Given the description of an element on the screen output the (x, y) to click on. 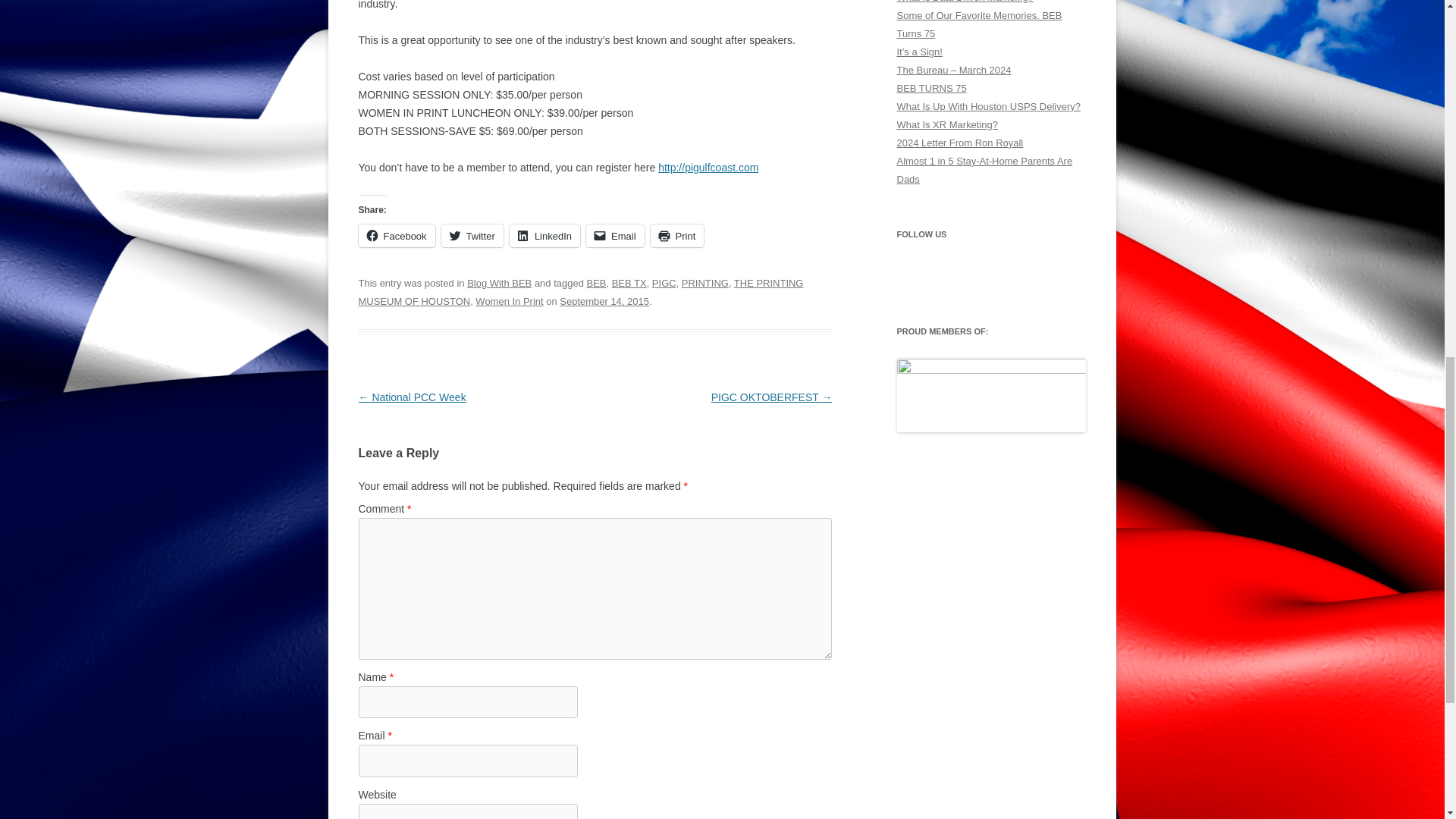
LinkedIn (544, 235)
PIGC (664, 283)
BEB (595, 283)
Email (615, 235)
Blog With BEB (499, 283)
Print (677, 235)
Click to email a link to a friend (615, 235)
4:38 pm (604, 301)
Click to print (677, 235)
Click to share on LinkedIn (544, 235)
